Given the description of an element on the screen output the (x, y) to click on. 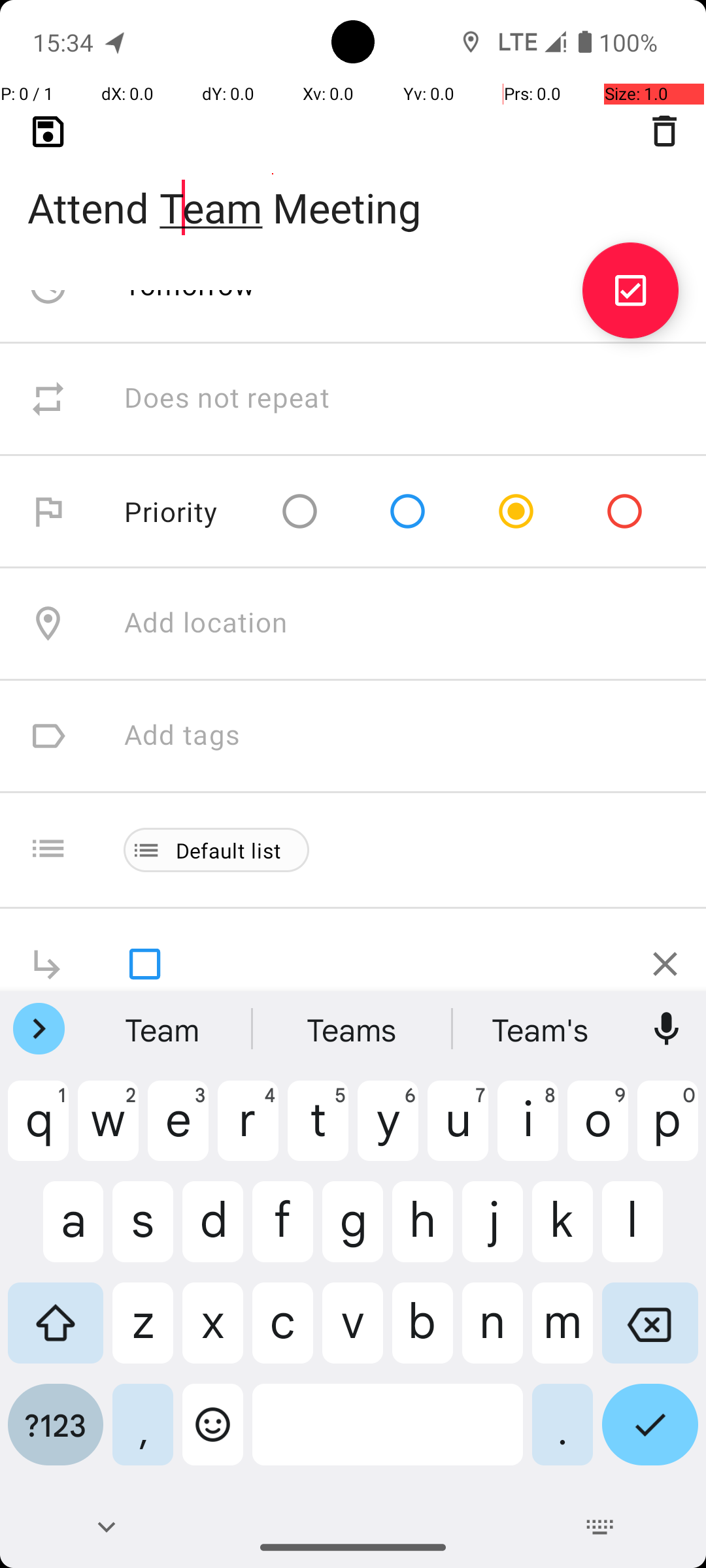
Week before due 05:55 Element type: android.widget.TextView (272, 173)
Team Element type: android.widget.FrameLayout (163, 1028)
Teams Element type: android.widget.FrameLayout (352, 1028)
Team's Element type: android.widget.FrameLayout (541, 1028)
